Given the description of an element on the screen output the (x, y) to click on. 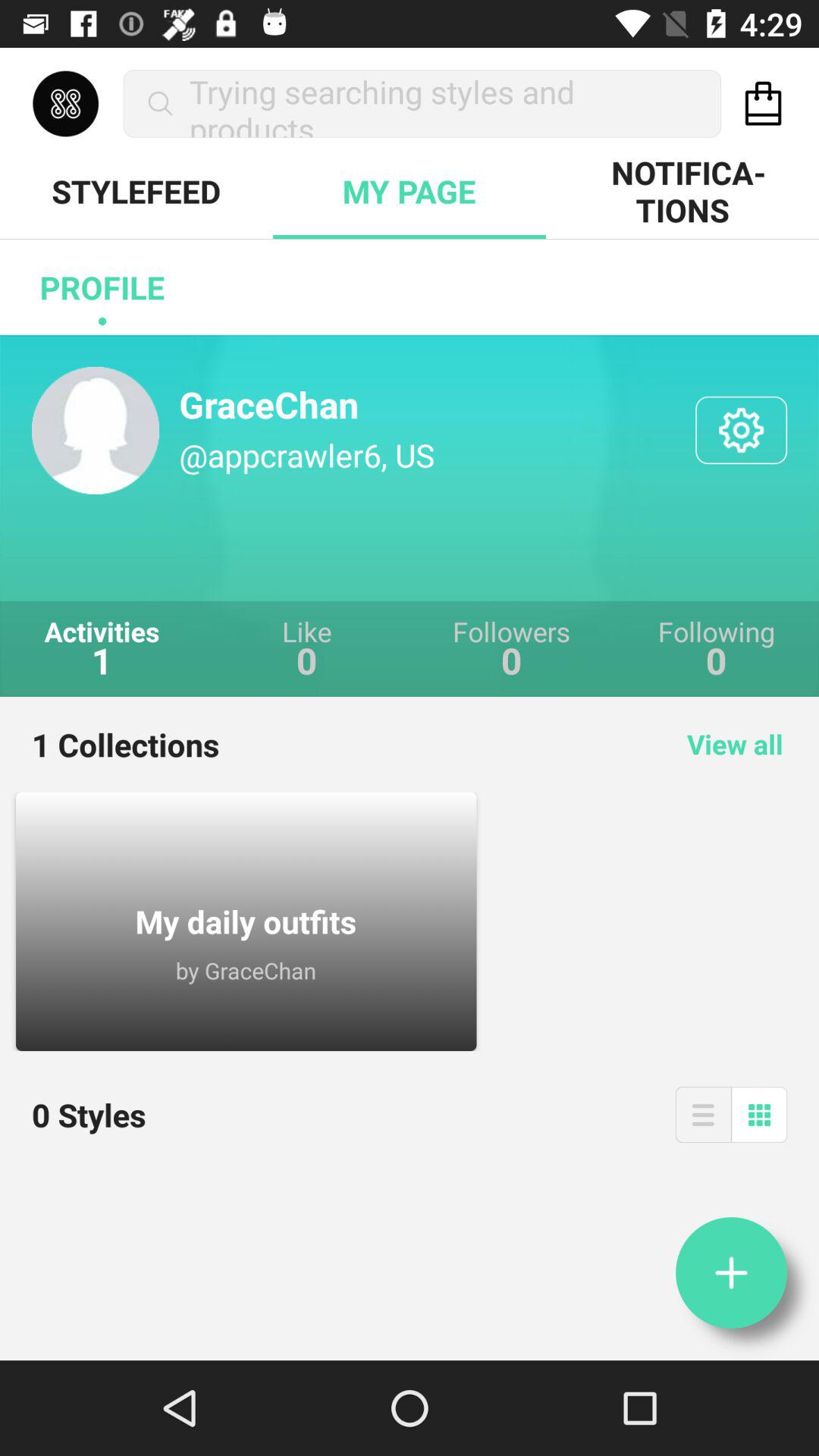
add information (731, 1272)
